Given the description of an element on the screen output the (x, y) to click on. 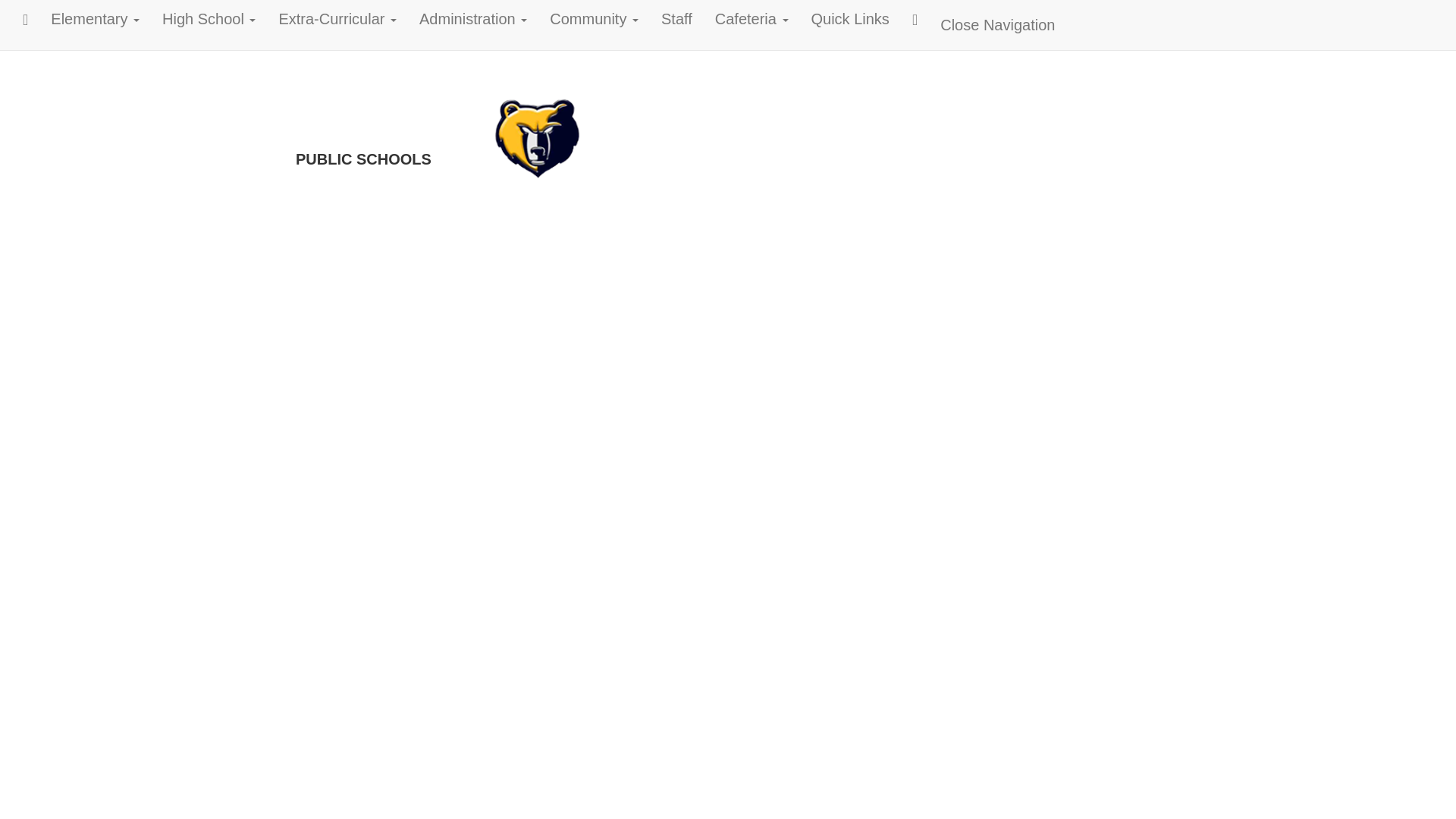
Extra-Curricular (336, 18)
Elementary (95, 18)
Skip to main content (10, 33)
High School (208, 18)
